Given the description of an element on the screen output the (x, y) to click on. 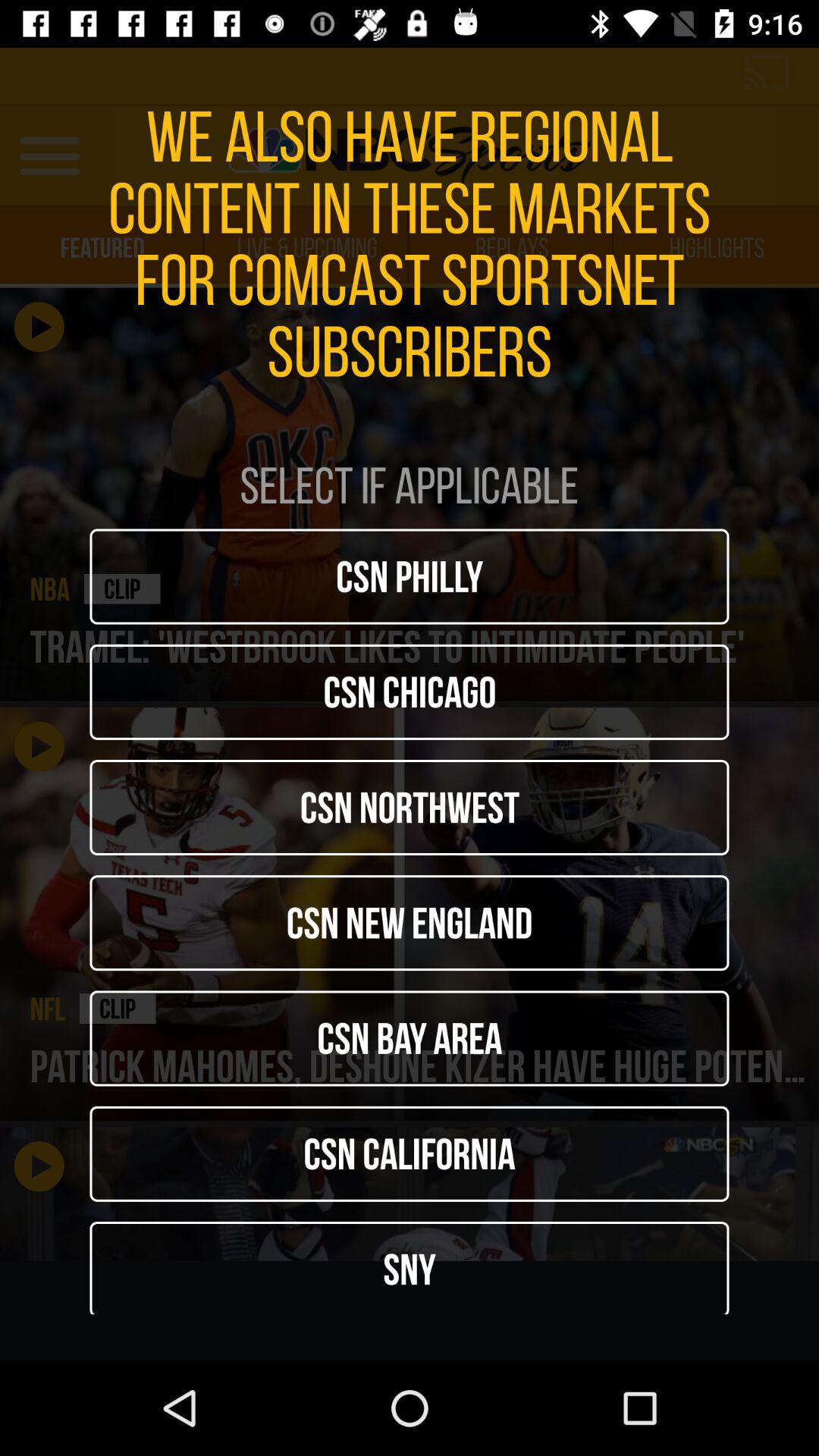
turn off the csn california icon (409, 1153)
